Given the description of an element on the screen output the (x, y) to click on. 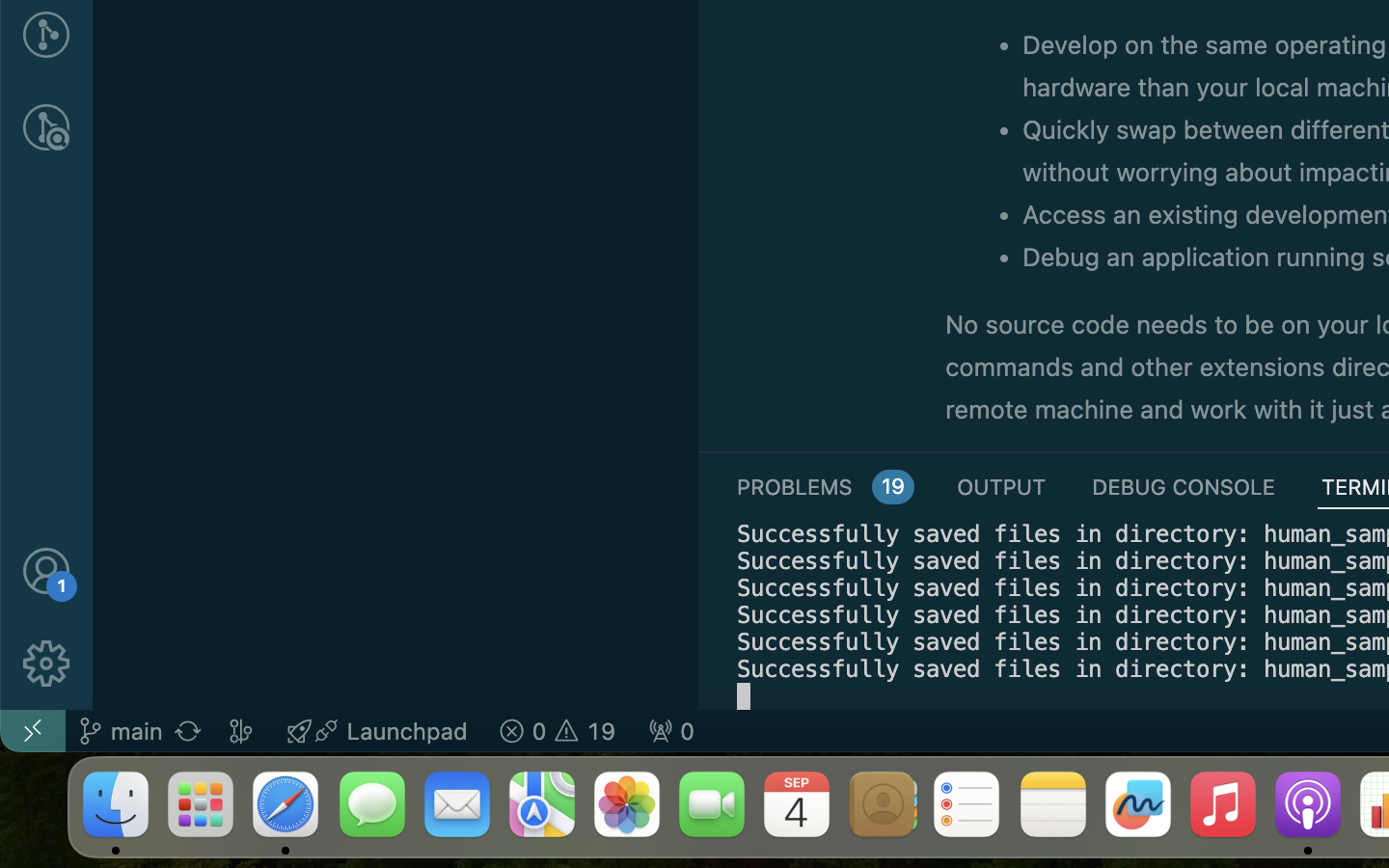
0 OUTPUT Element type: AXRadioButton (1001, 485)
 Element type: AXGroup (46, 570)
 Element type: AXGroup (46, 127)
0 DEBUG CONSOLE Element type: AXRadioButton (1183, 485)
19 0   Element type: AXButton (557, 730)
